Given the description of an element on the screen output the (x, y) to click on. 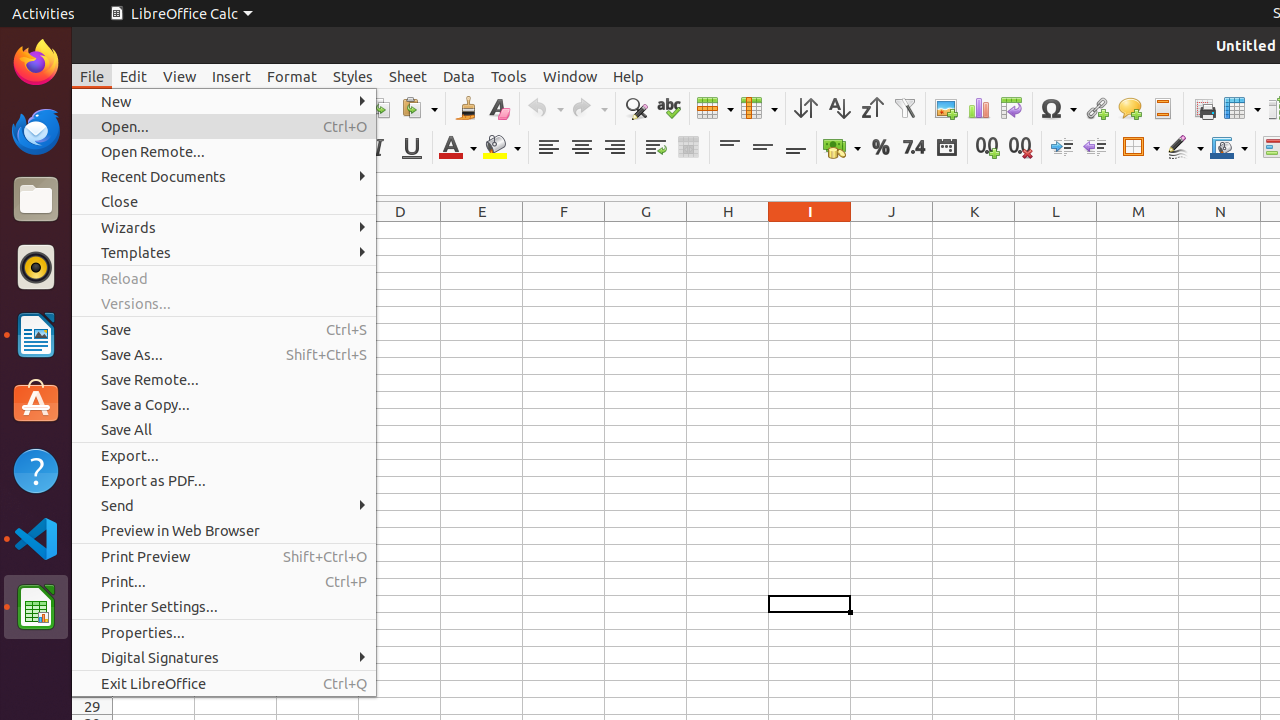
Sort Ascending Element type: push-button (838, 108)
H1 Element type: table-cell (728, 230)
Align Right Element type: push-button (614, 147)
Row Element type: push-button (715, 108)
Column Element type: push-button (759, 108)
